Given the description of an element on the screen output the (x, y) to click on. 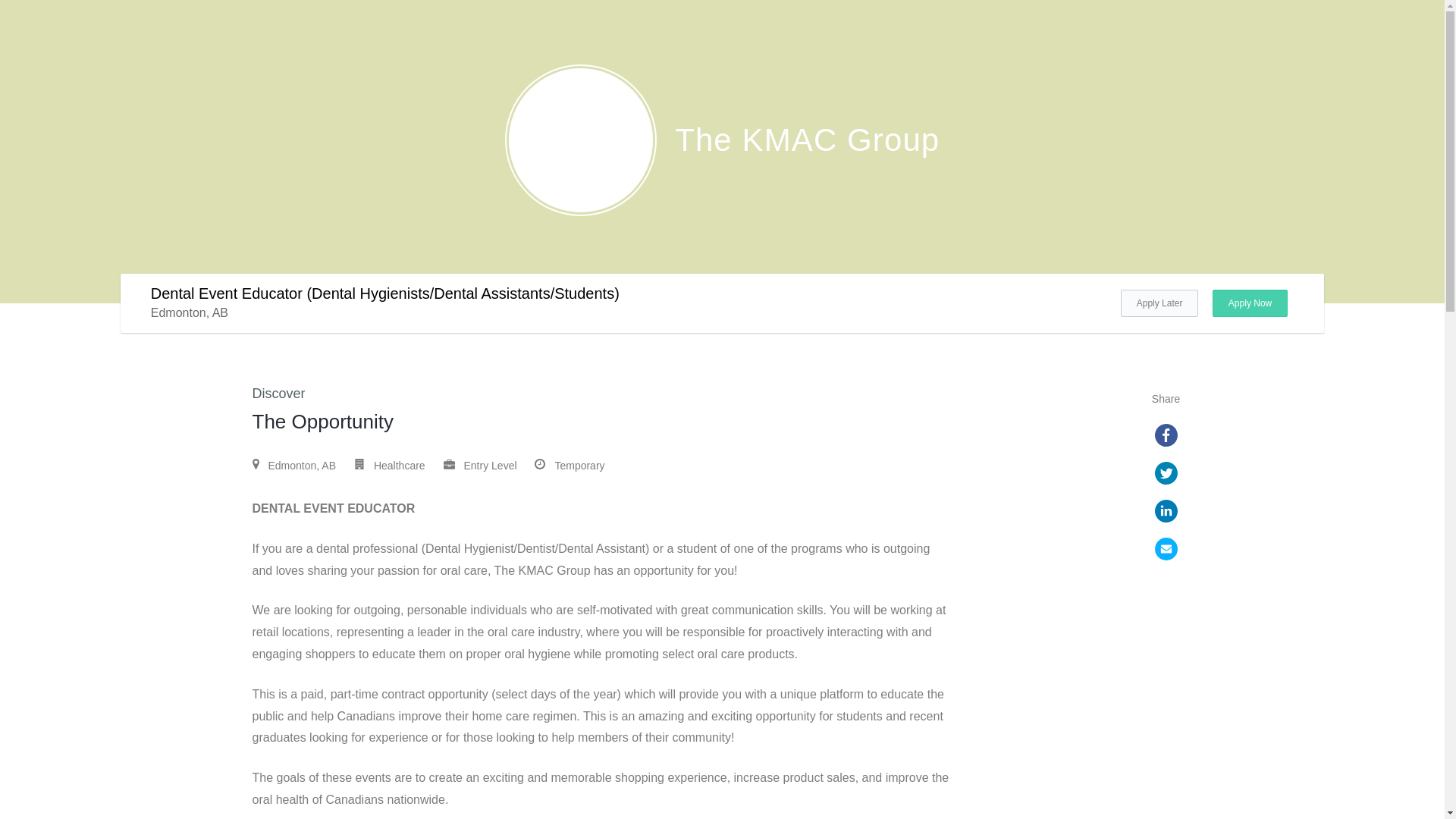
Apply Now (1249, 302)
The KMAC Group (722, 138)
Apply Later (1159, 302)
